Given the description of an element on the screen output the (x, y) to click on. 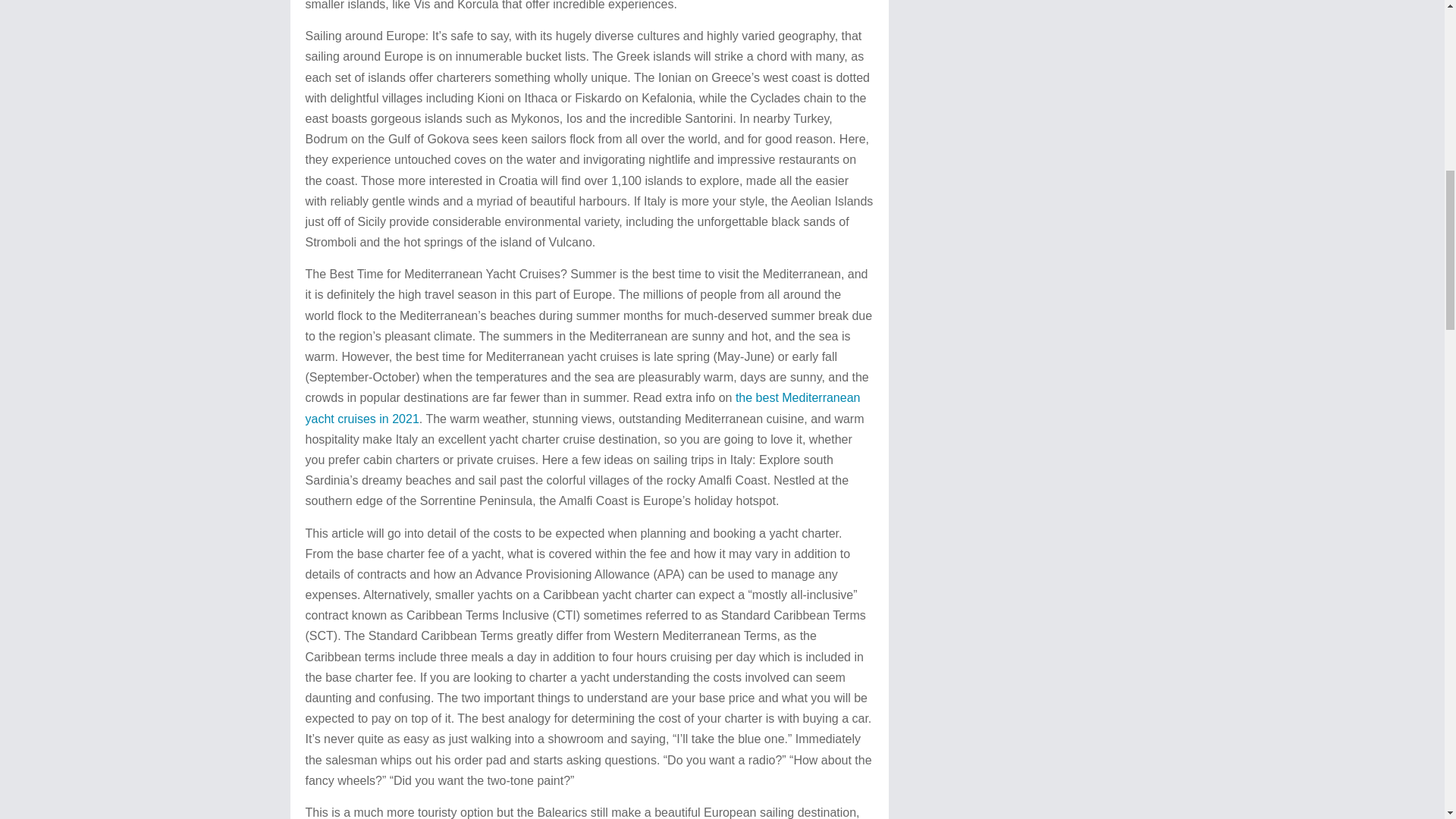
the best Mediterranean yacht cruises in 2021 (582, 408)
